Given the description of an element on the screen output the (x, y) to click on. 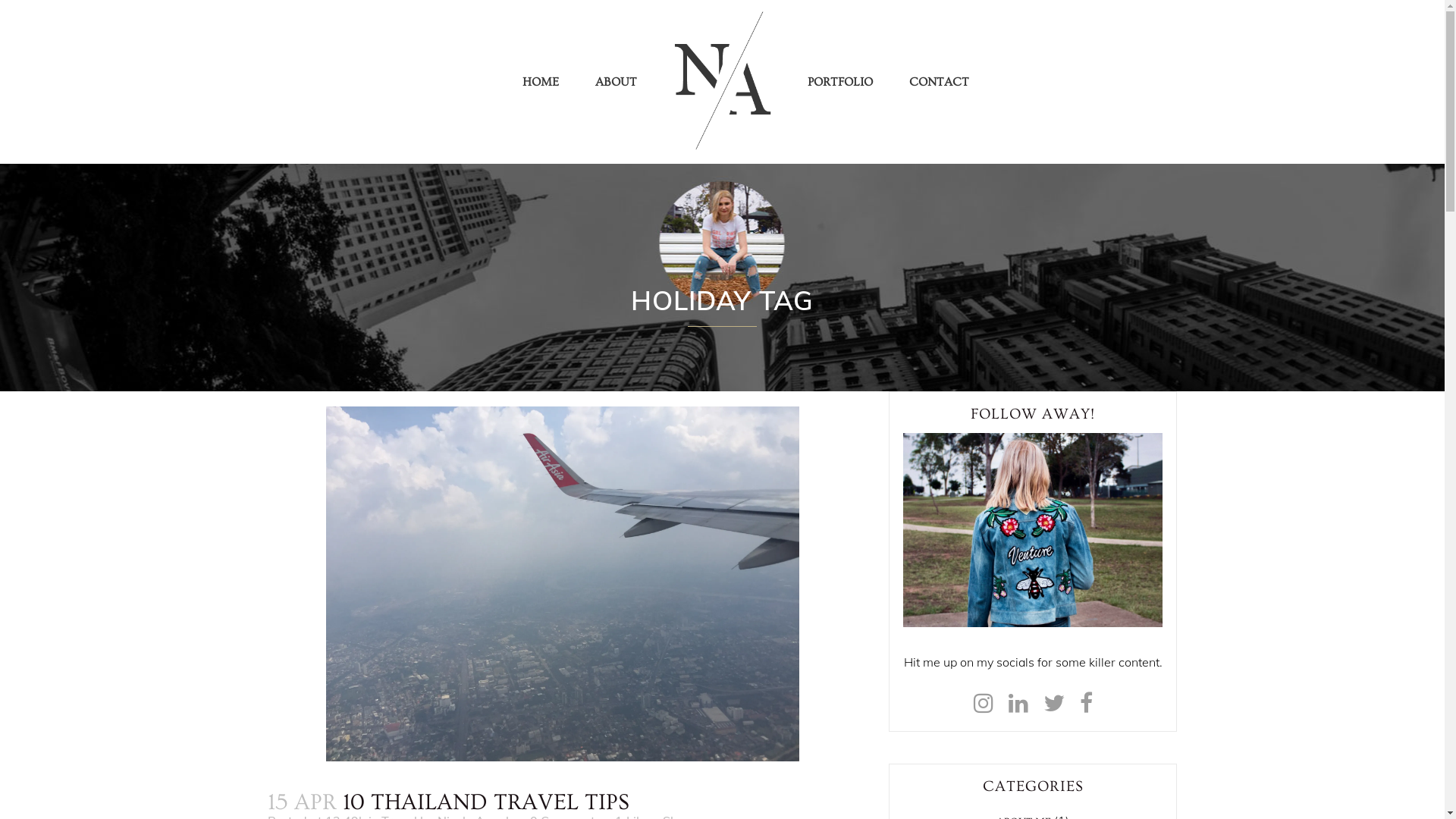
10 THAILAND TRAVEL TIPS Element type: text (485, 802)
ABOUT Element type: text (616, 81)
HOME Element type: text (540, 81)
CONTACT Element type: text (939, 81)
10 Thailand Travel Tips Element type: hover (562, 583)
PORTFOLIO Element type: text (840, 81)
